Given the description of an element on the screen output the (x, y) to click on. 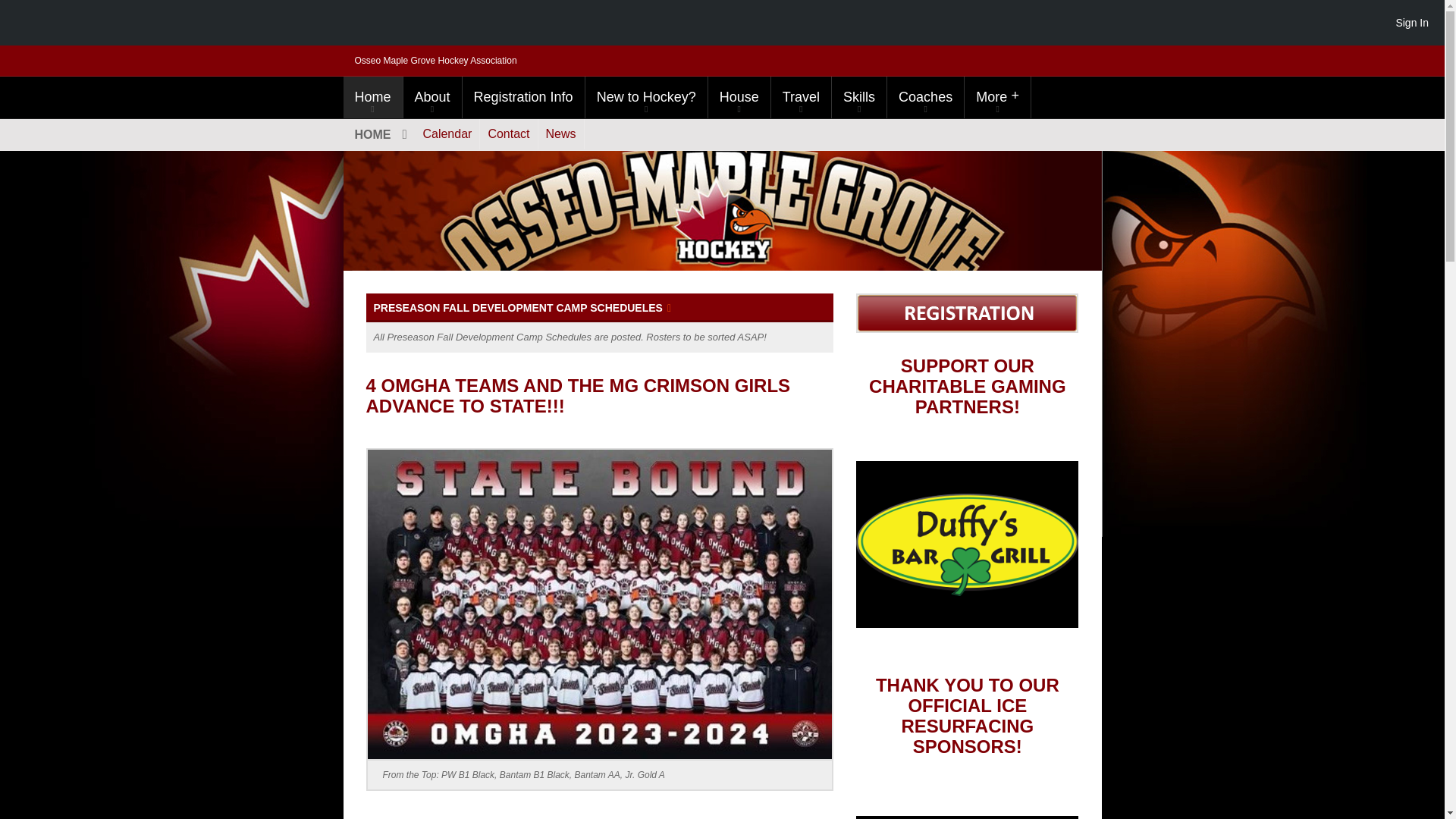
click to go to 'Home' (371, 96)
click to go to 'House' (738, 96)
click to go to 'Travel' (801, 96)
More (996, 96)
click to go to 'Calendar' (446, 133)
Sign In (1411, 22)
New to Hockey? (646, 96)
Registration Info (524, 96)
SportsEngine (73, 22)
News (560, 133)
